Given the description of an element on the screen output the (x, y) to click on. 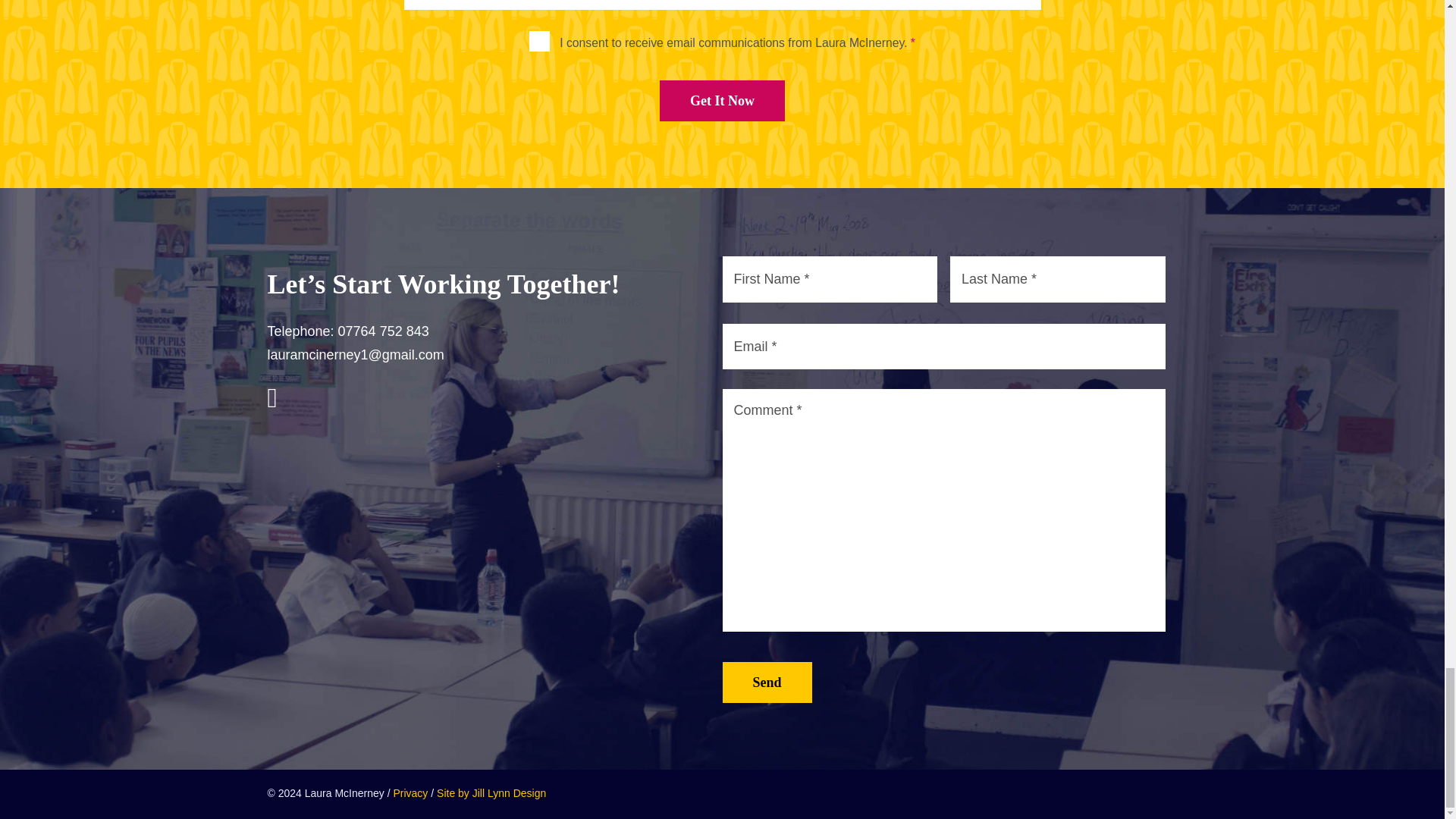
Atlanta WordPress Designer and Developer (491, 793)
Get It Now (721, 100)
Send (766, 681)
Get It Now (721, 100)
Privacy (410, 793)
Send (766, 681)
